Given the description of an element on the screen output the (x, y) to click on. 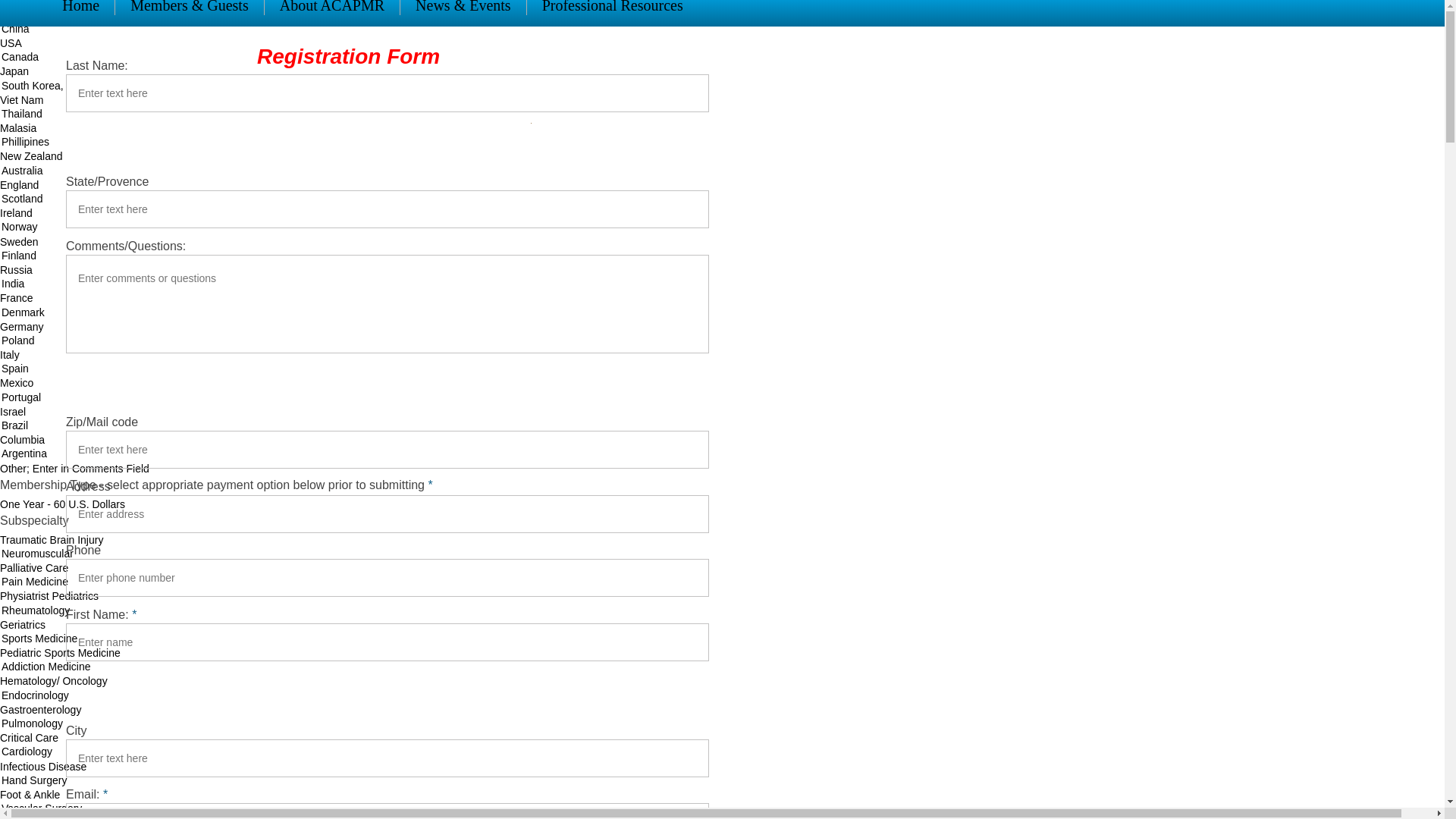
About ACAPMR (331, 6)
Home (80, 6)
Professional Resources (611, 6)
